Given the description of an element on the screen output the (x, y) to click on. 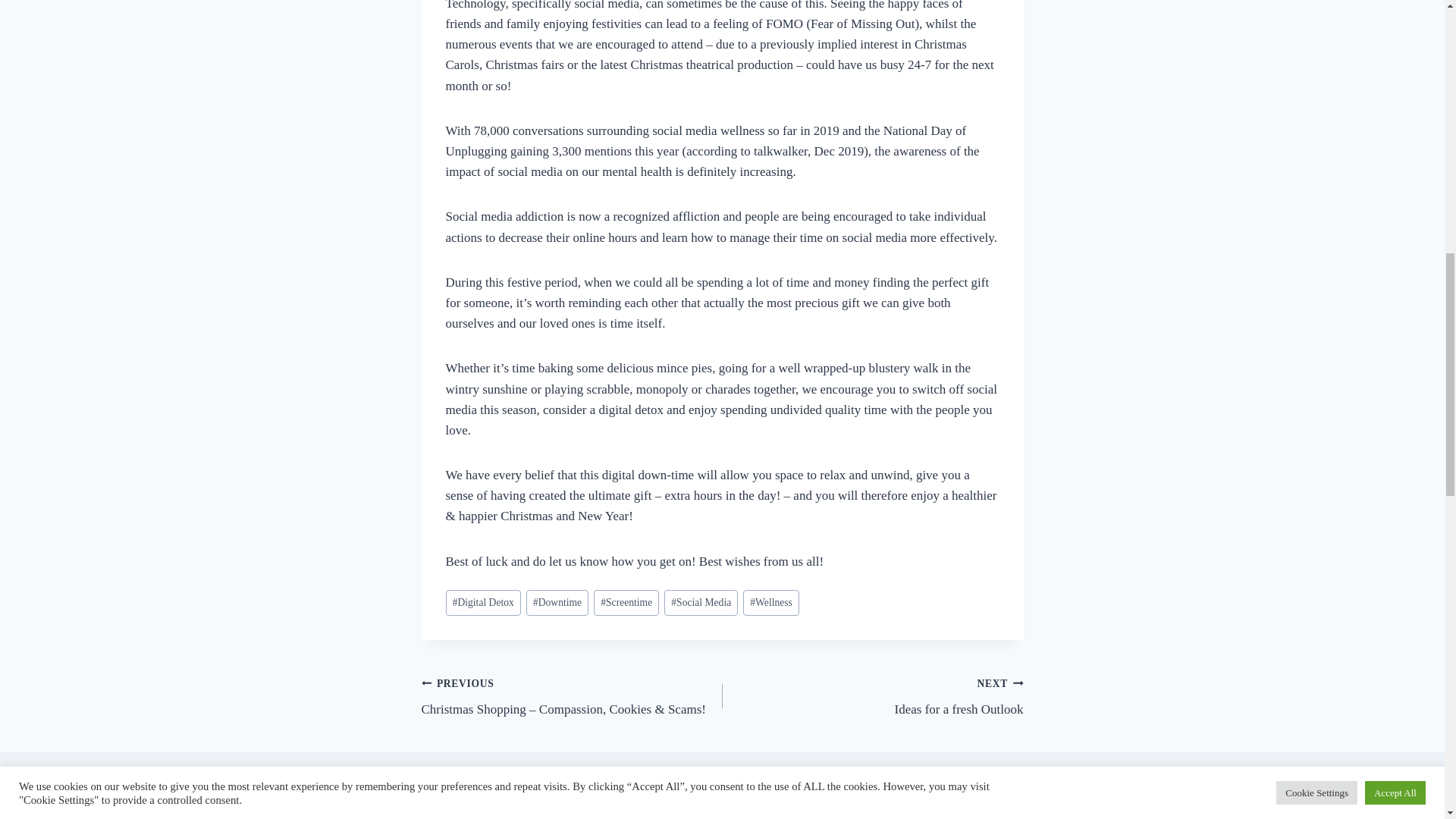
Social Media (700, 602)
Downtime (557, 602)
Digital Detox (483, 602)
Wellness (872, 696)
Screentime (770, 602)
